Given the description of an element on the screen output the (x, y) to click on. 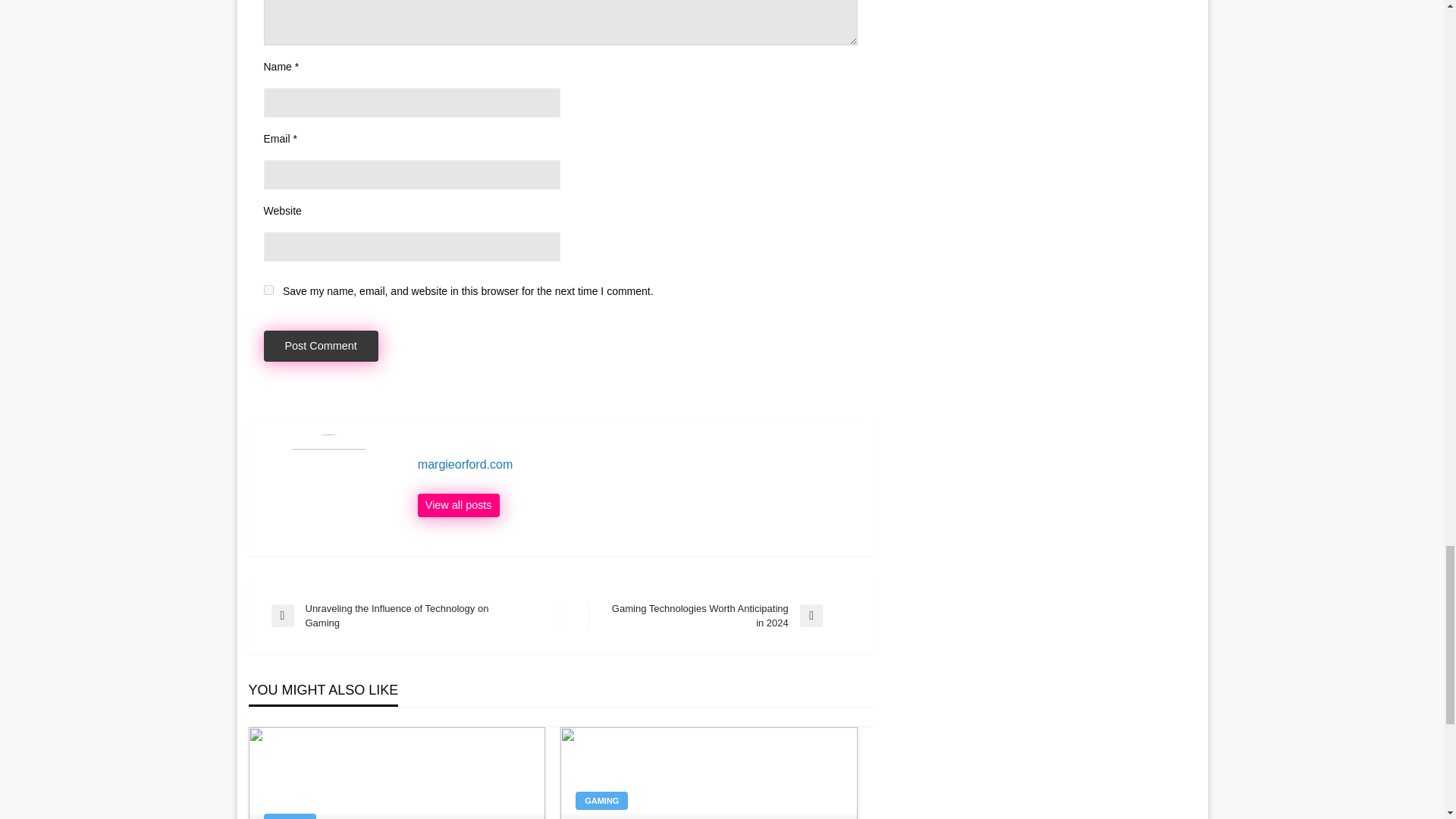
margieorford.com (637, 464)
View all posts (719, 615)
yes (458, 505)
Post Comment (268, 289)
GAMING (320, 345)
Post Comment (289, 816)
margieorford.com (320, 345)
margieorford.com (637, 464)
